Given the description of an element on the screen output the (x, y) to click on. 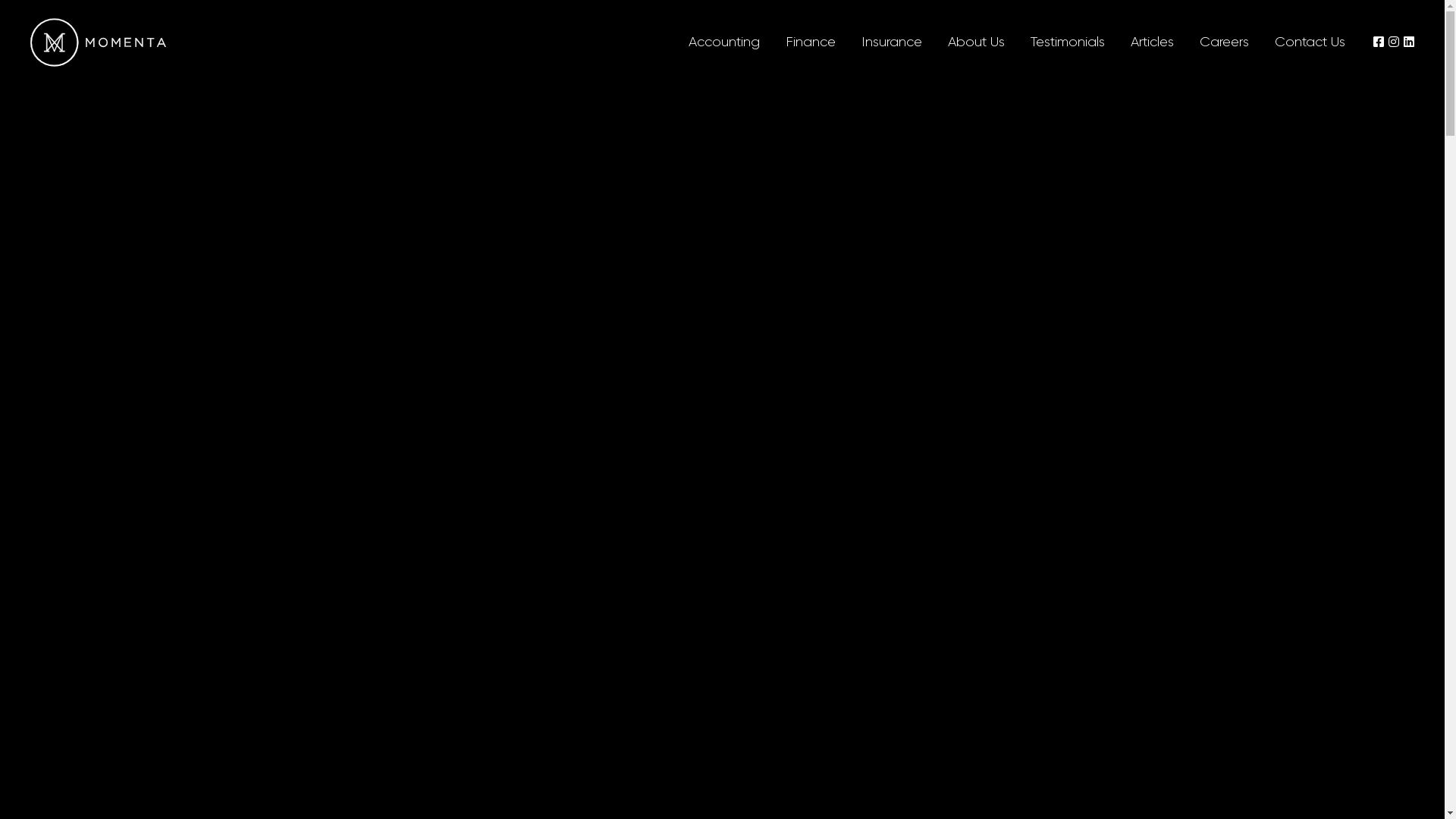
About Us Element type: text (976, 42)
Insurance Element type: text (891, 42)
Big Creativa Element type: text (657, 751)
+61 2 9606 6749 Element type: text (342, 578)
Testimonials Element type: text (1067, 42)
Accounting Element type: text (723, 42)
info@momenta.com.au Element type: text (375, 610)
Contact Us Element type: text (1309, 42)
Privacy Policy Element type: text (872, 737)
Articles Element type: text (1151, 42)
Finance Element type: text (810, 42)
NORWEST
G.04/14-16
Brookhollow Avenue Norwest NSW 2153 Element type: text (1062, 613)
Careers Element type: text (1223, 42)
